Given the description of an element on the screen output the (x, y) to click on. 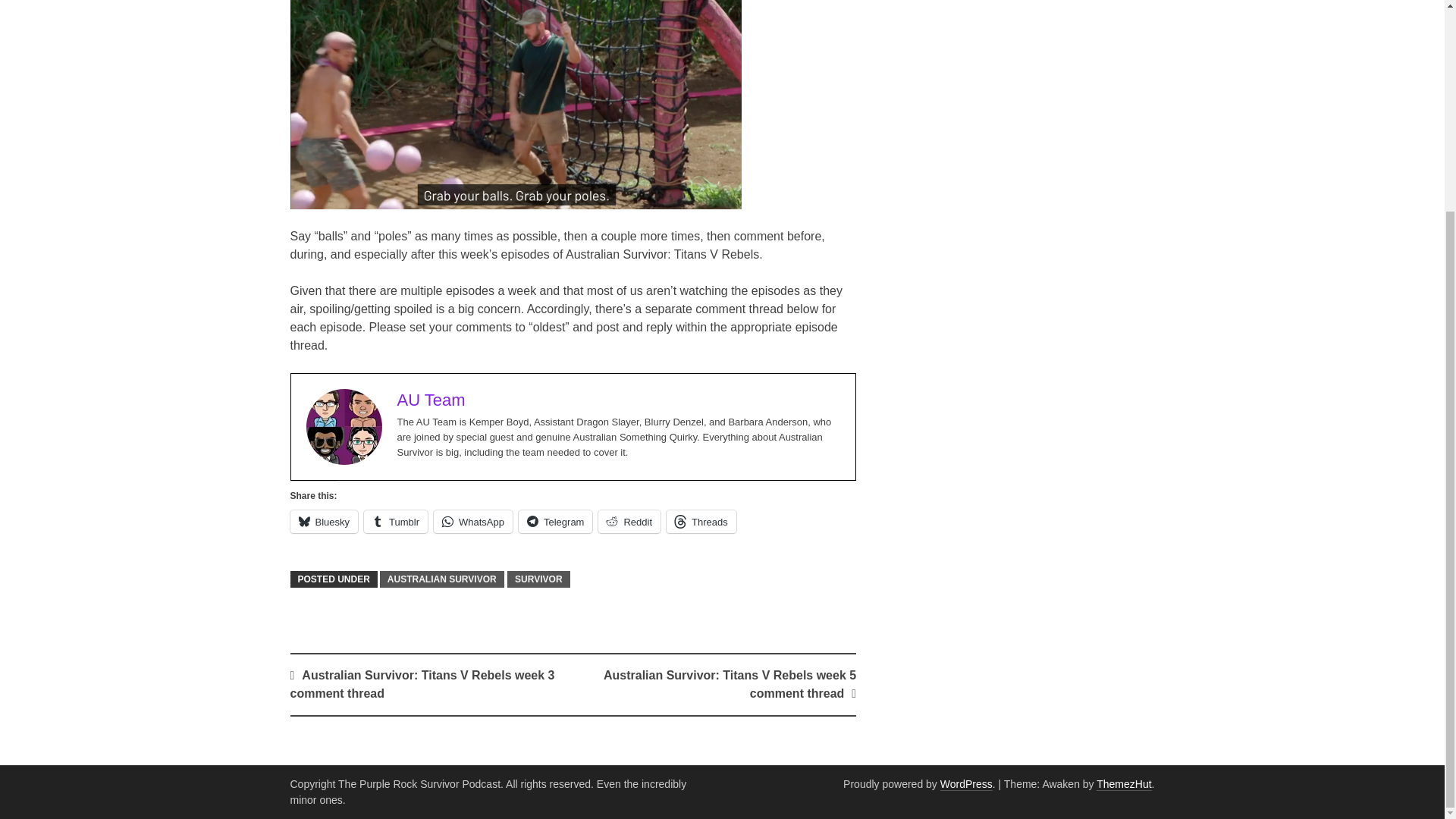
Click to share on Tumblr (396, 521)
Click to share on Threads (701, 521)
Click to share on Telegram (555, 521)
WordPress (966, 784)
Click to share on Bluesky (323, 521)
Click to share on WhatsApp (472, 521)
Click to share on Reddit (629, 521)
